Given the description of an element on the screen output the (x, y) to click on. 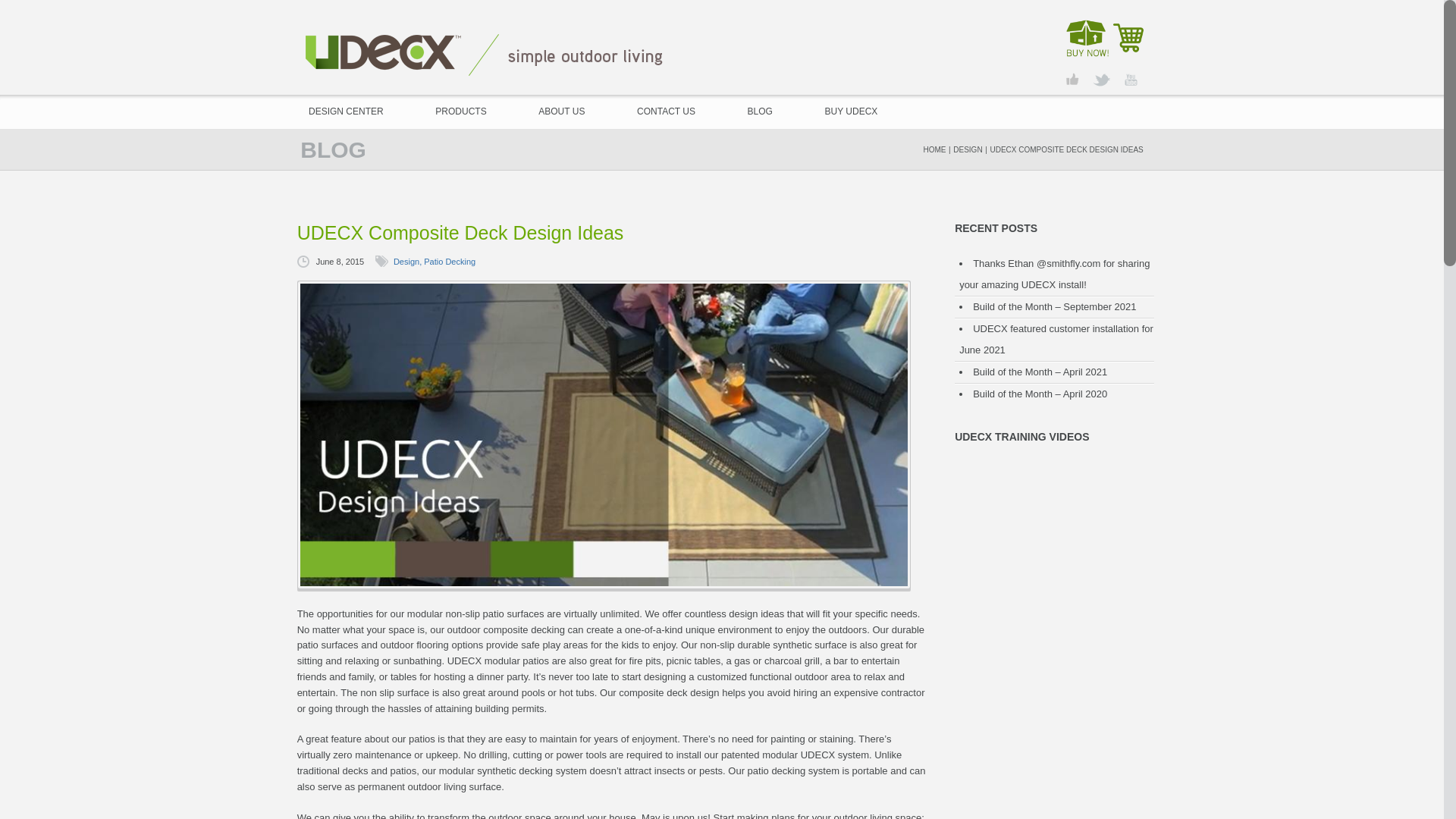
UDECX (483, 53)
DESIGN CENTER (346, 110)
BLOG (759, 110)
CONTACT US (665, 110)
DESIGN (967, 149)
HOME (933, 149)
Page 5 (604, 712)
Twitter (1101, 79)
UDECX Composite Deck Design Ideas (604, 233)
Facebook (1072, 79)
Patio Decking (449, 261)
BUY UDECX (851, 110)
ABOUT US (560, 110)
PRODUCTS (460, 110)
Youtube (1129, 79)
